Given the description of an element on the screen output the (x, y) to click on. 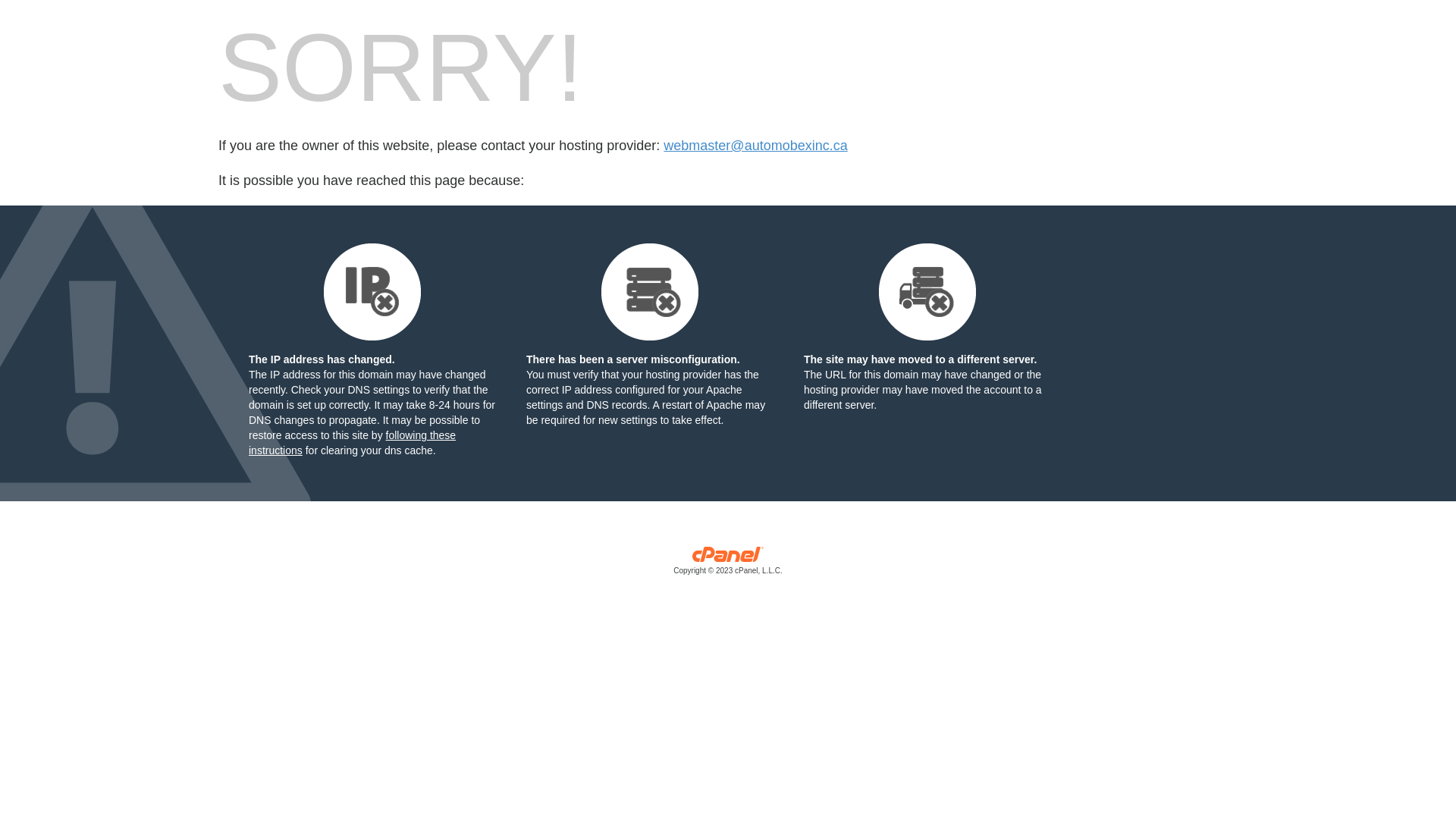
following these instructions Element type: text (351, 442)
webmaster@automobexinc.ca Element type: text (755, 145)
